Given the description of an element on the screen output the (x, y) to click on. 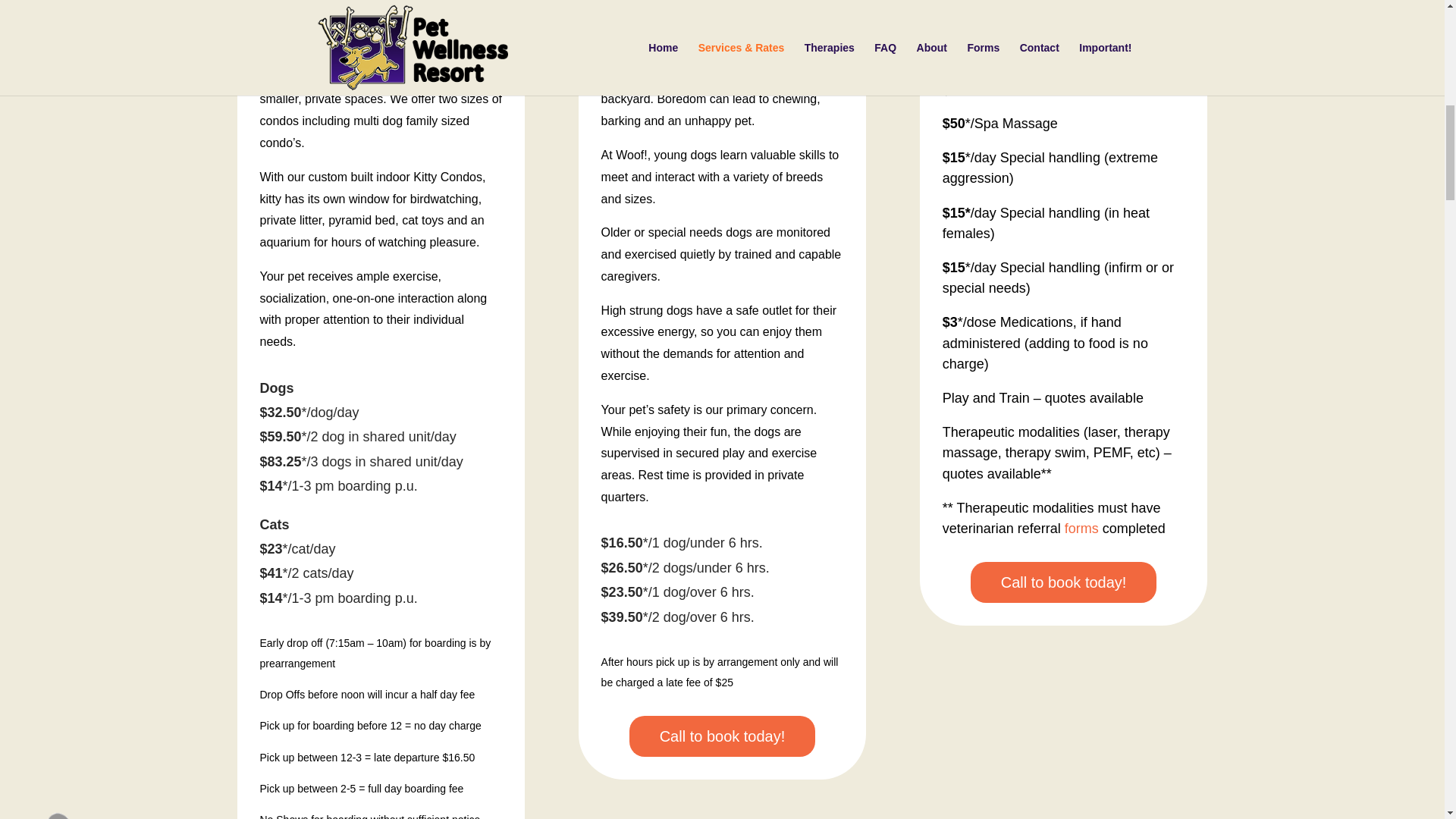
forms (1081, 528)
Call to book today! (1064, 581)
Call to book today! (721, 735)
